Given the description of an element on the screen output the (x, y) to click on. 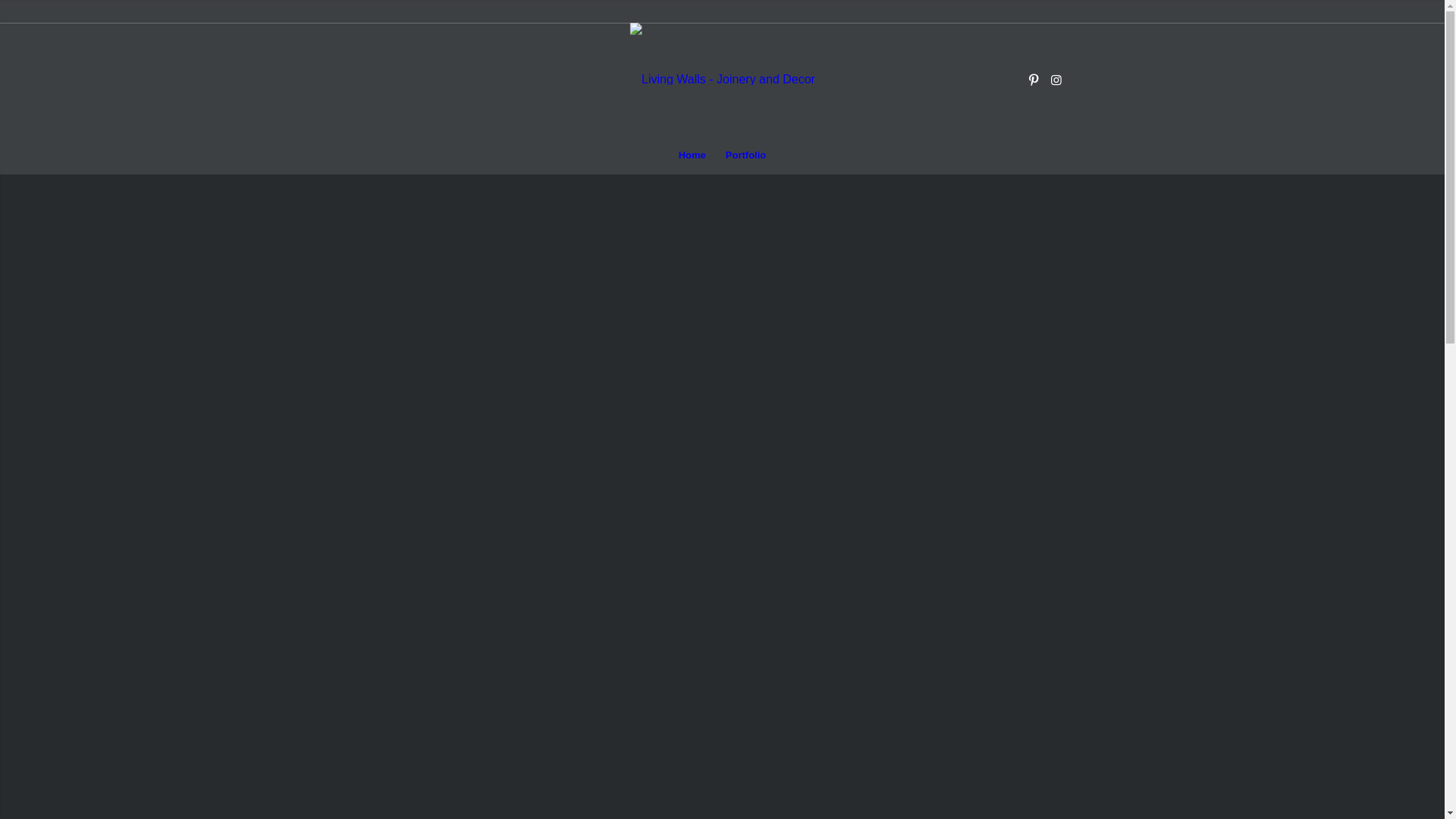
Pinterest Element type: hover (1033, 79)
Portfolio Element type: text (745, 155)
Instagram Element type: hover (1055, 79)
Home Element type: text (691, 155)
